Given the description of an element on the screen output the (x, y) to click on. 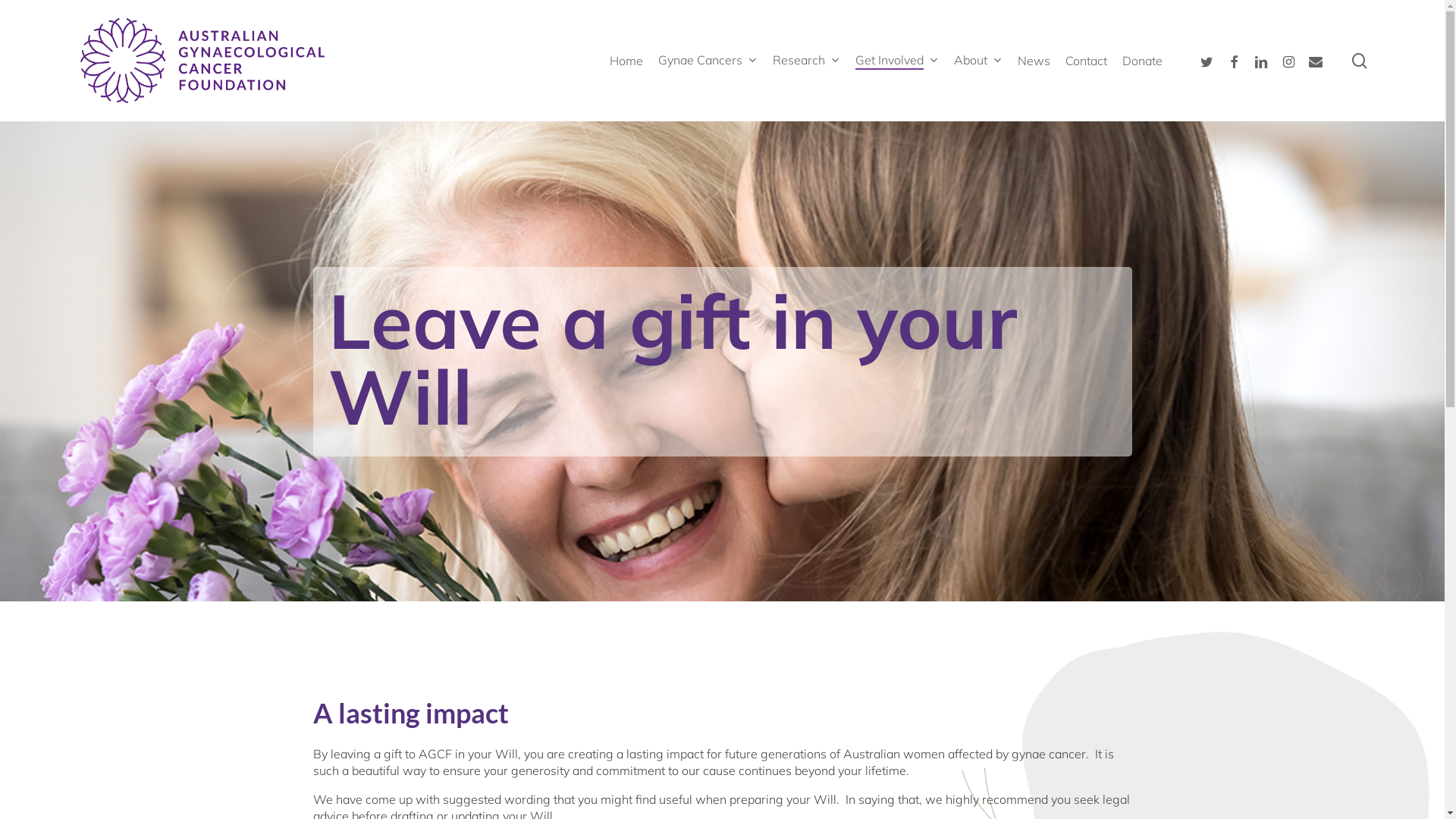
linkedin Element type: text (1260, 60)
Contact Element type: text (1086, 60)
Donate Element type: text (1142, 60)
twitter Element type: text (1206, 60)
About Element type: text (977, 60)
News Element type: text (1033, 60)
Research Element type: text (806, 60)
search Element type: text (1359, 61)
Get Involved Element type: text (896, 60)
Home Element type: text (626, 60)
facebook Element type: text (1233, 60)
instagram Element type: text (1288, 60)
Gynae Cancers Element type: text (707, 60)
email Element type: text (1315, 60)
